Given the description of an element on the screen output the (x, y) to click on. 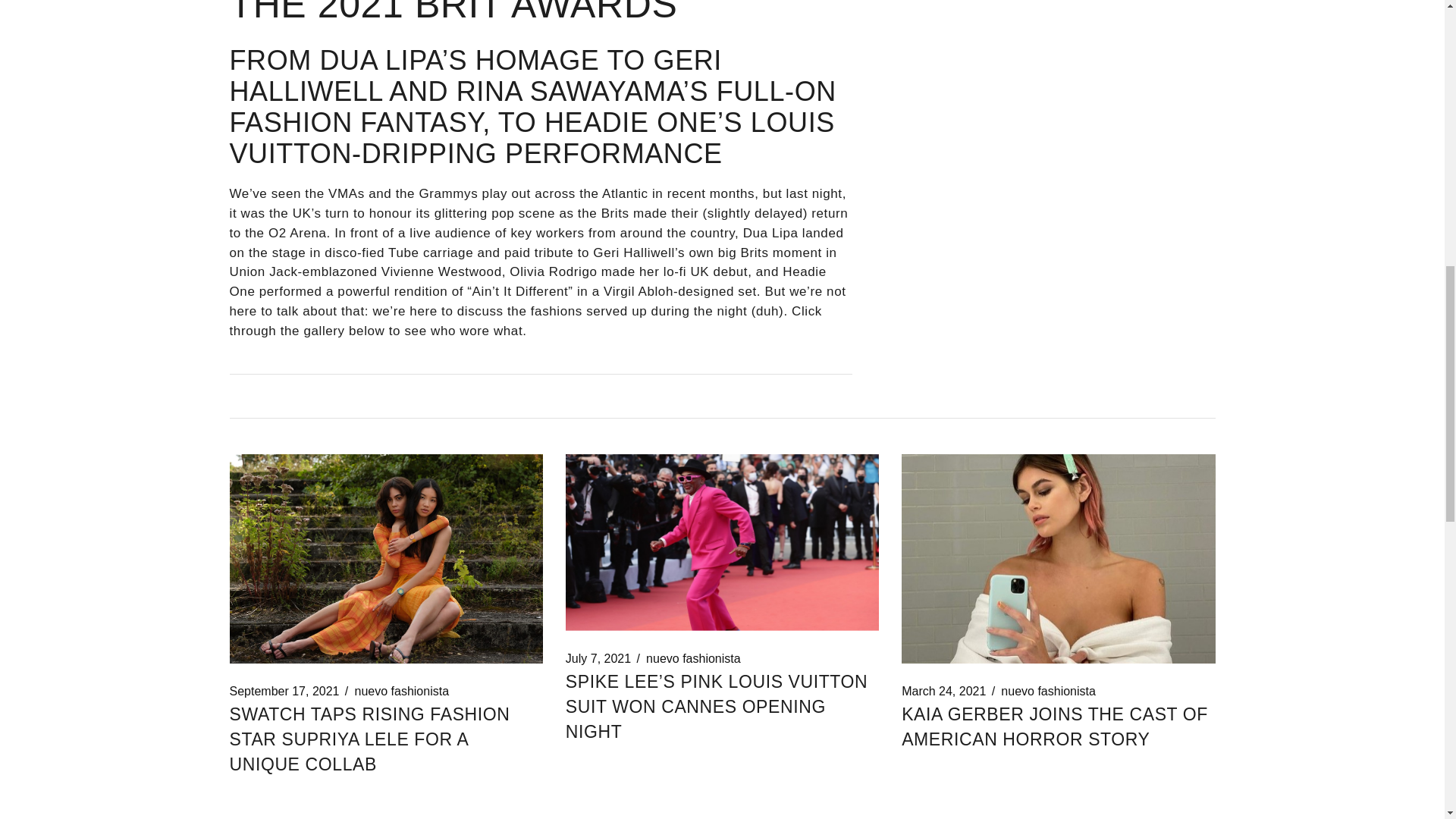
nuevo fashionista (1048, 691)
September 17, 2021 (283, 691)
July 7, 2021 (598, 658)
nuevo fashionista (402, 691)
nuevo fashionista (693, 658)
March 24, 2021 (943, 691)
KAIA GERBER JOINS THE CAST OF AMERICAN HORROR STORY (1054, 726)
